Given the description of an element on the screen output the (x, y) to click on. 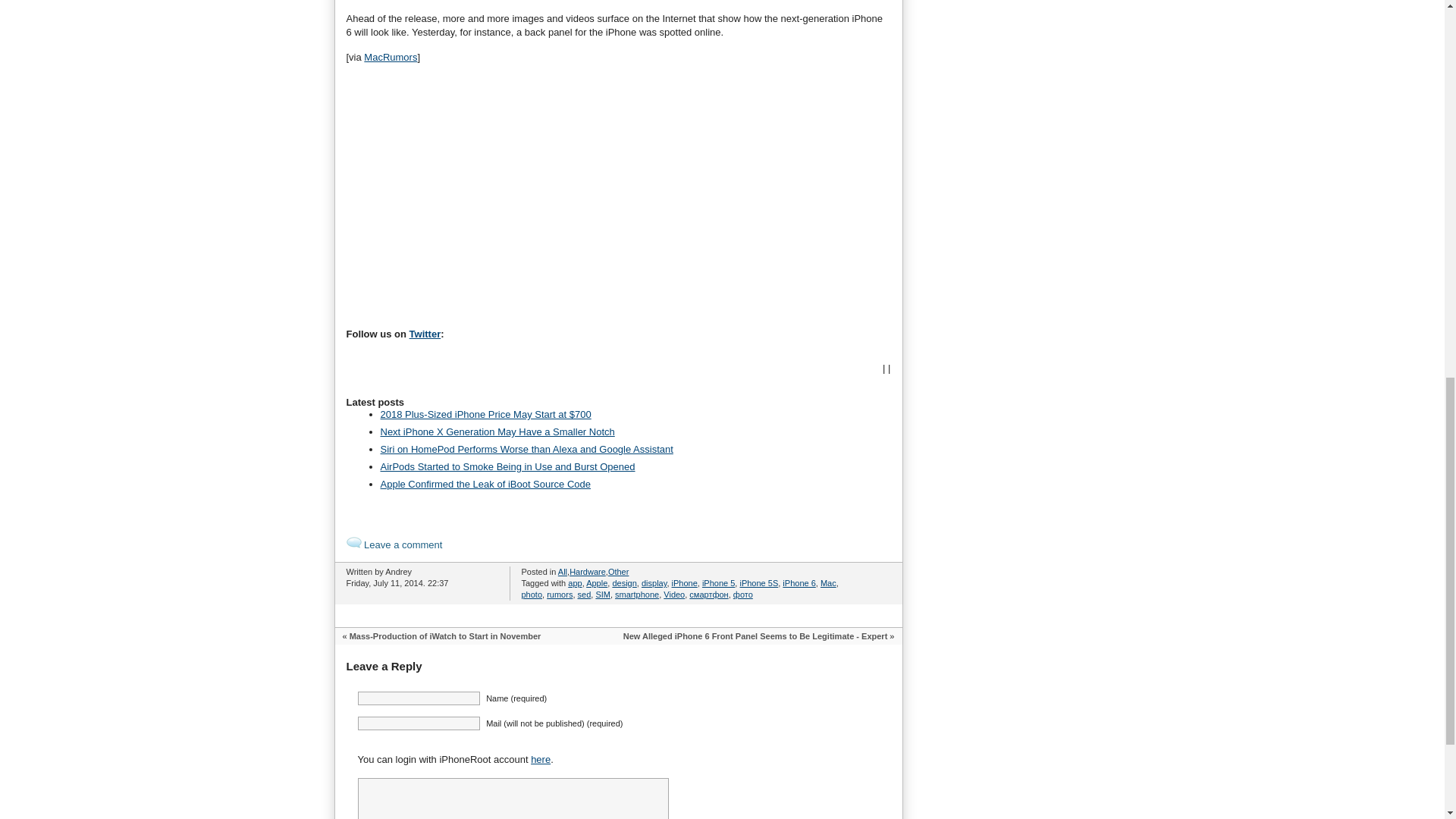
photo (532, 593)
Advertisement (472, 192)
iPhone 5S (758, 583)
Twitter (425, 333)
AirPods Started to Smoke Being in Use and Burst Opened (507, 466)
Apple (596, 583)
View all posts in Hardware (587, 571)
Apple Confirmed the Leak of iBoot Source Code (485, 483)
View all posts in All (562, 571)
Apple Confirmed the Leak of iBoot Source Code (485, 483)
iPhone (684, 583)
Mac (828, 583)
MacRumors (390, 57)
rumors (559, 593)
